Given the description of an element on the screen output the (x, y) to click on. 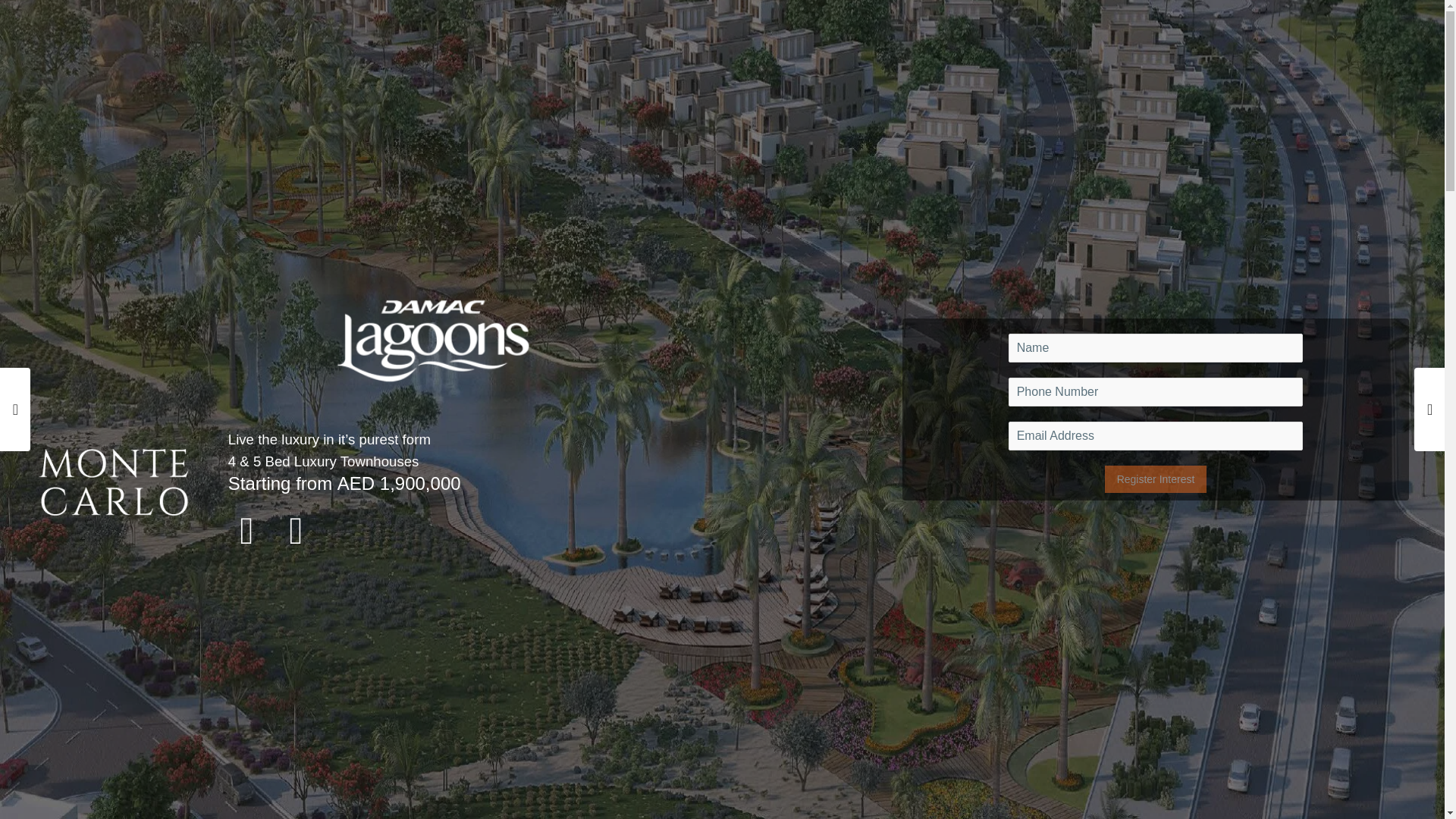
Monte-Carlo-Logo (113, 482)
damac lagoons white (433, 340)
Register Interest (1156, 479)
